Given the description of an element on the screen output the (x, y) to click on. 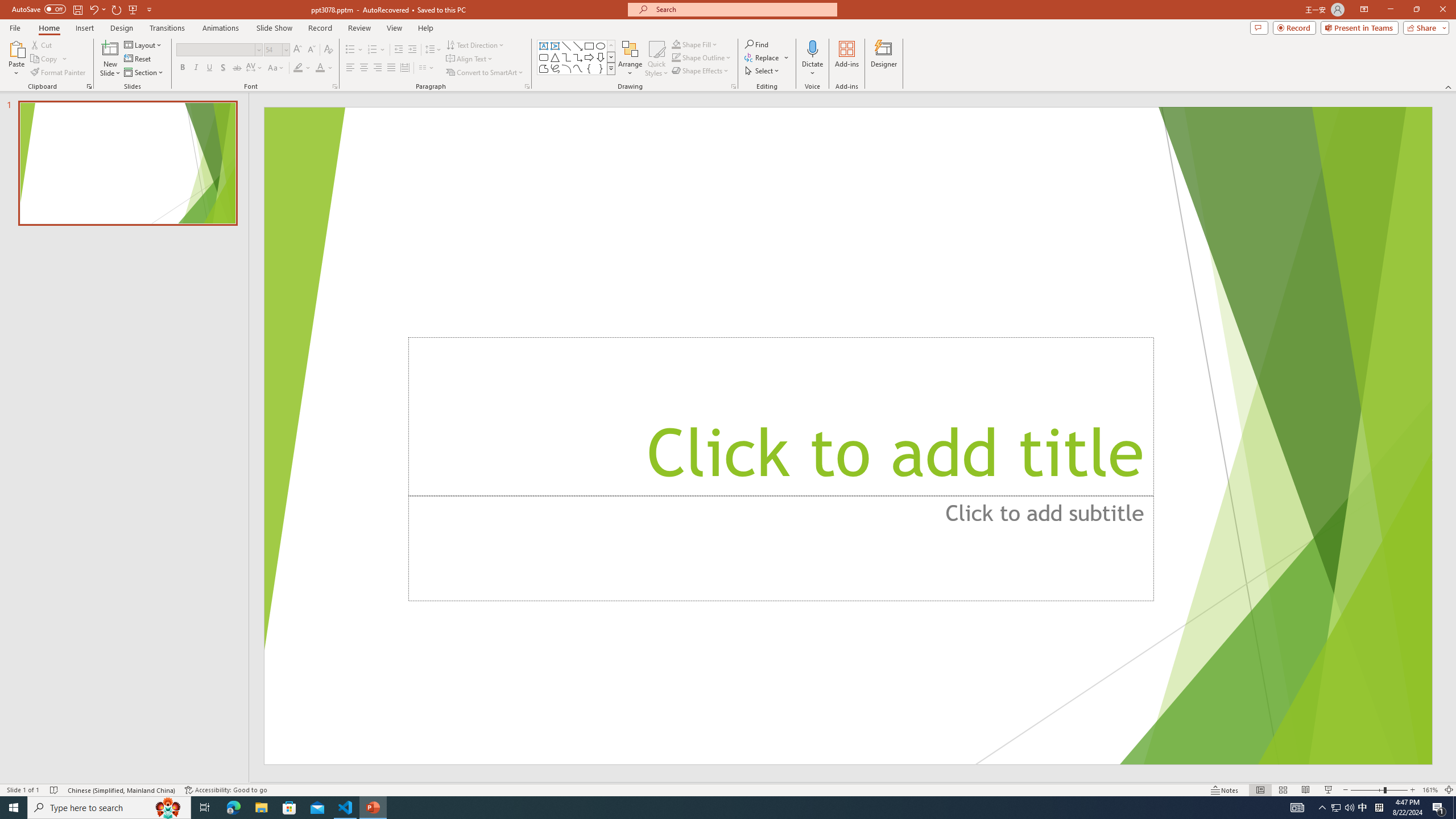
Curve (577, 68)
Dictate (812, 58)
Line Arrow (577, 45)
Quick Styles (656, 58)
Zoom Out (1367, 790)
Reading View (1305, 790)
Isosceles Triangle (554, 57)
Format Object... (733, 85)
Left Brace (589, 68)
Home (48, 28)
Dictate (812, 48)
Open (285, 49)
Align Right (377, 67)
Slide Show (273, 28)
